Given the description of an element on the screen output the (x, y) to click on. 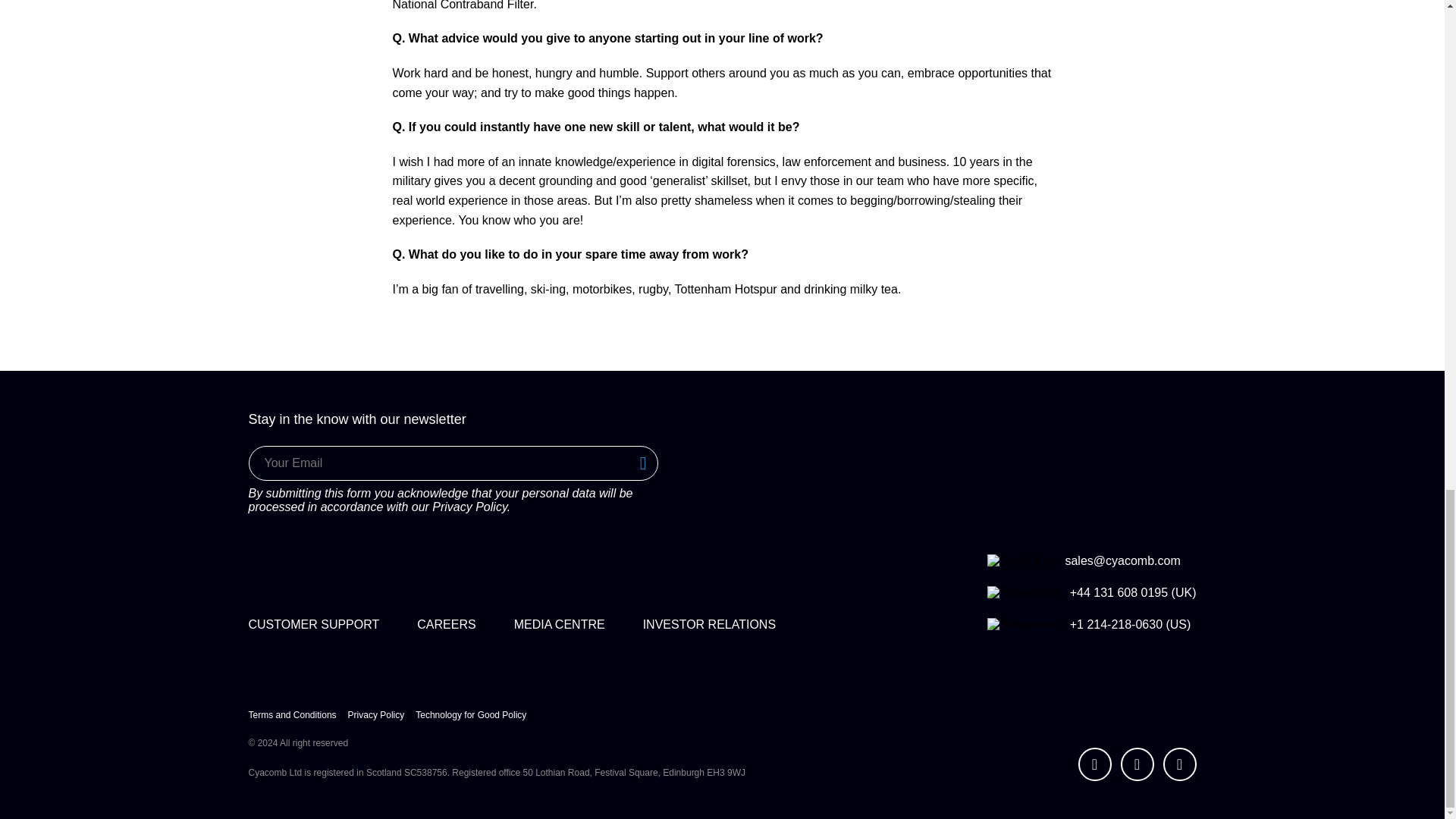
CUSTOMER SUPPORT (314, 624)
CAREERS (446, 624)
INVESTOR RELATIONS (709, 624)
MEDIA CENTRE (559, 624)
